Given the description of an element on the screen output the (x, y) to click on. 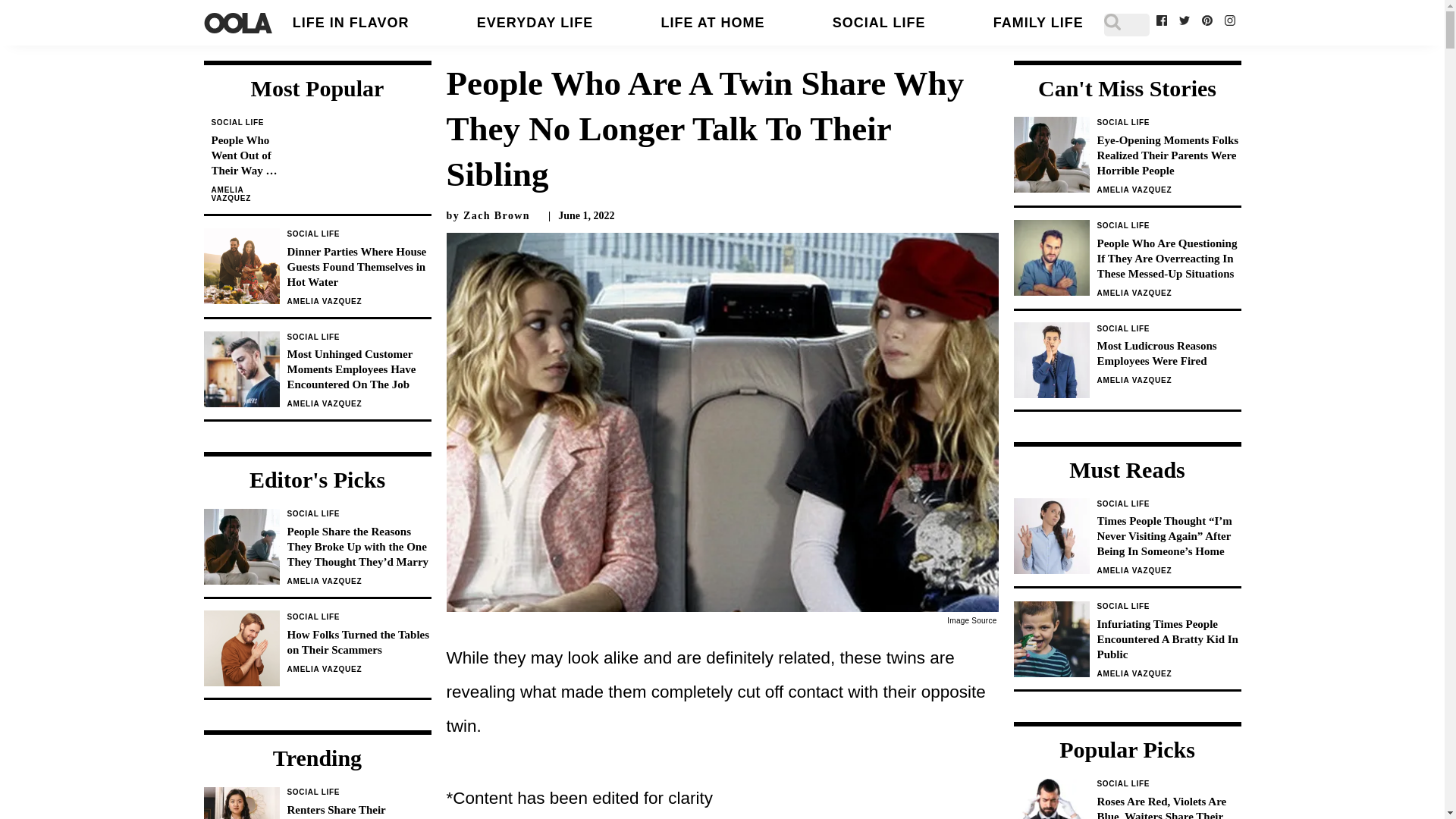
Social Life (1123, 503)
EVERYDAY LIFE (534, 22)
LIFE AT HOME (712, 22)
FAMILY LIFE (1037, 22)
Social Life (1123, 605)
Social Life (1123, 328)
SOCIAL LIFE (879, 22)
Zach Brown (496, 215)
Social Life (312, 234)
Image Source (971, 620)
LIFE IN FLAVOR (350, 22)
Social Life (237, 121)
